Given the description of an element on the screen output the (x, y) to click on. 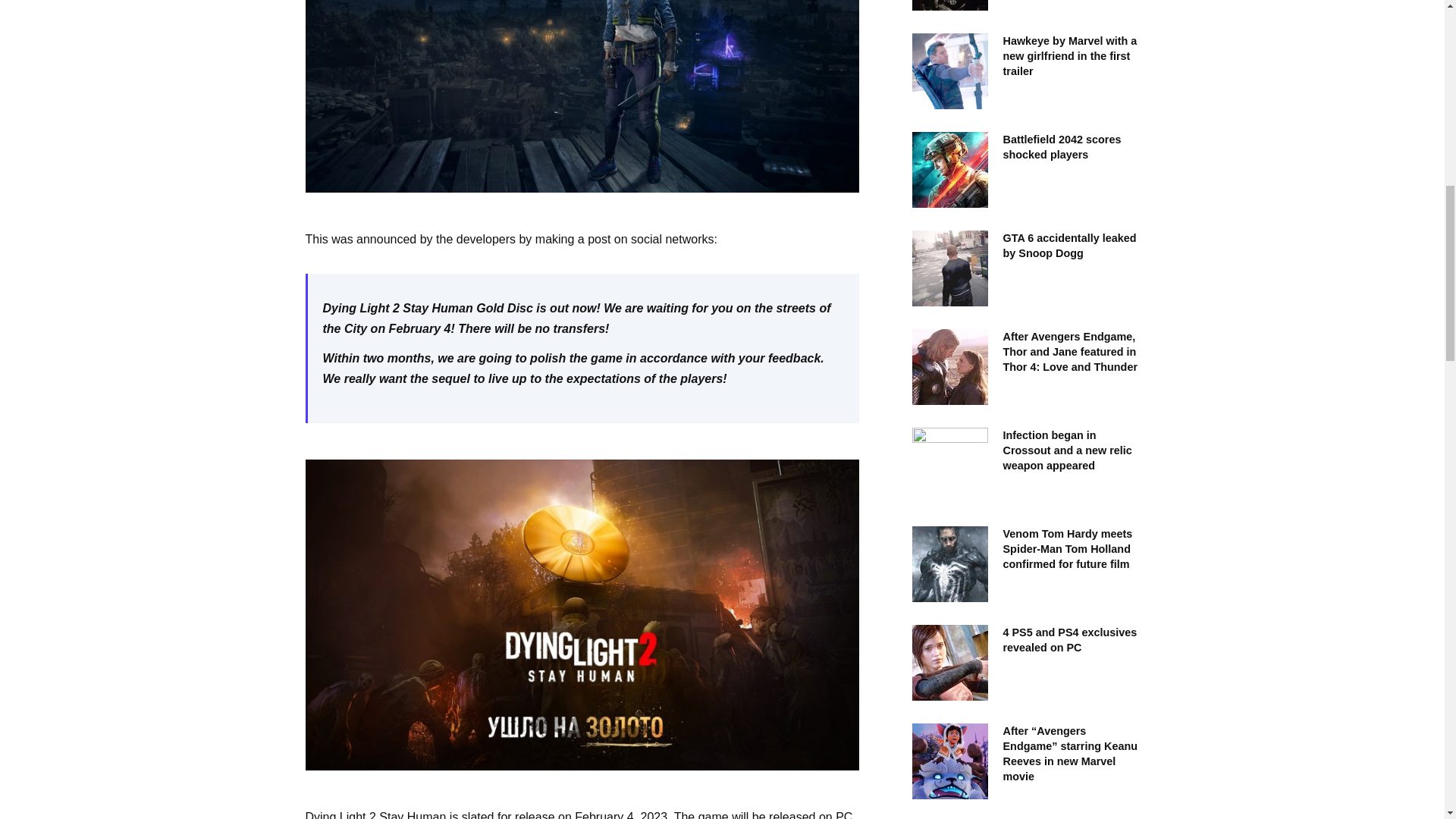
Hawkeye by Marvel with a new girlfriend in the first trailer (1070, 56)
